Given the description of an element on the screen output the (x, y) to click on. 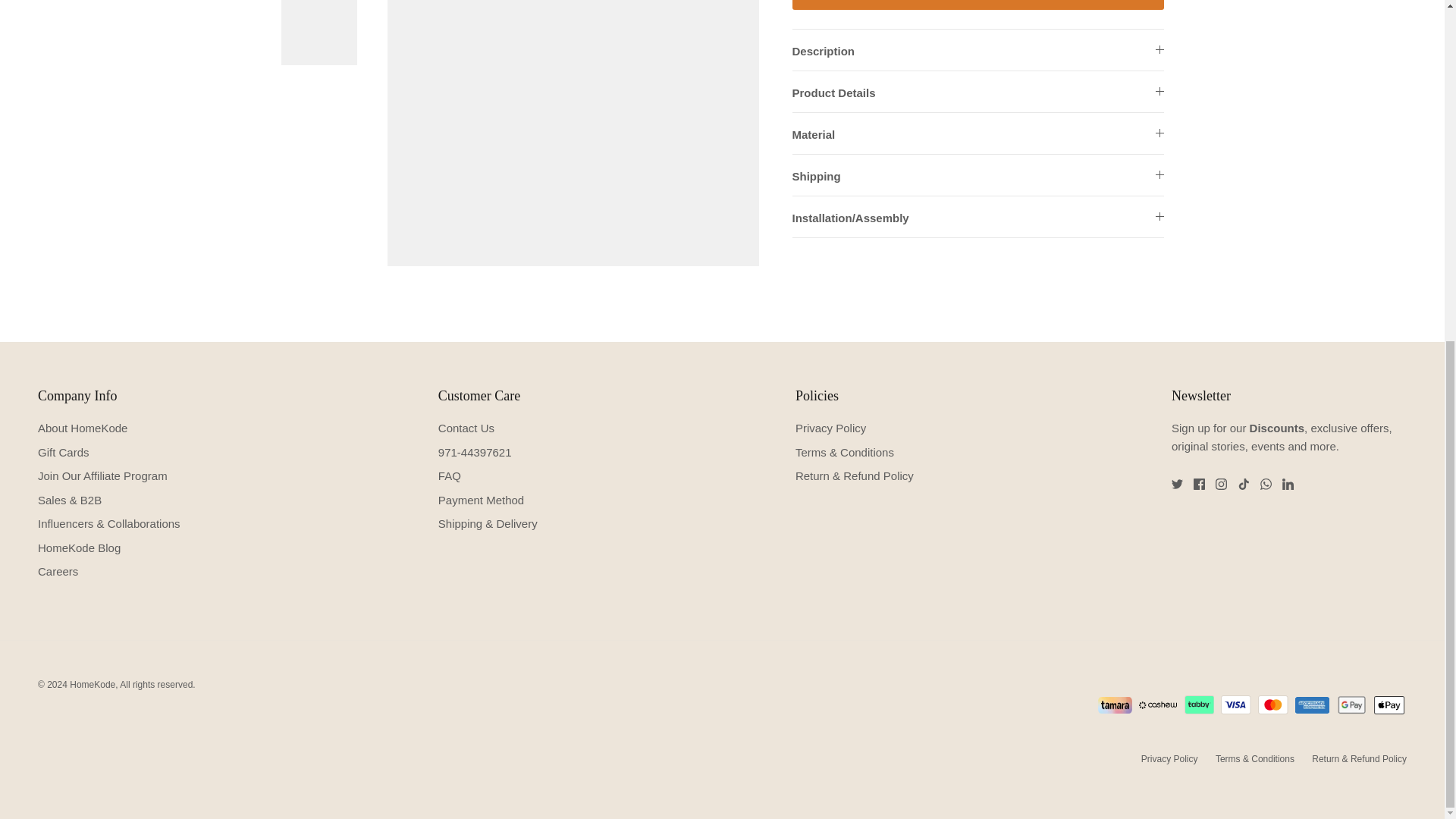
Tabby (1199, 704)
Facebook (1199, 483)
Twitter (1177, 483)
Visa (1235, 704)
Instagram (1221, 483)
